Given the description of an element on the screen output the (x, y) to click on. 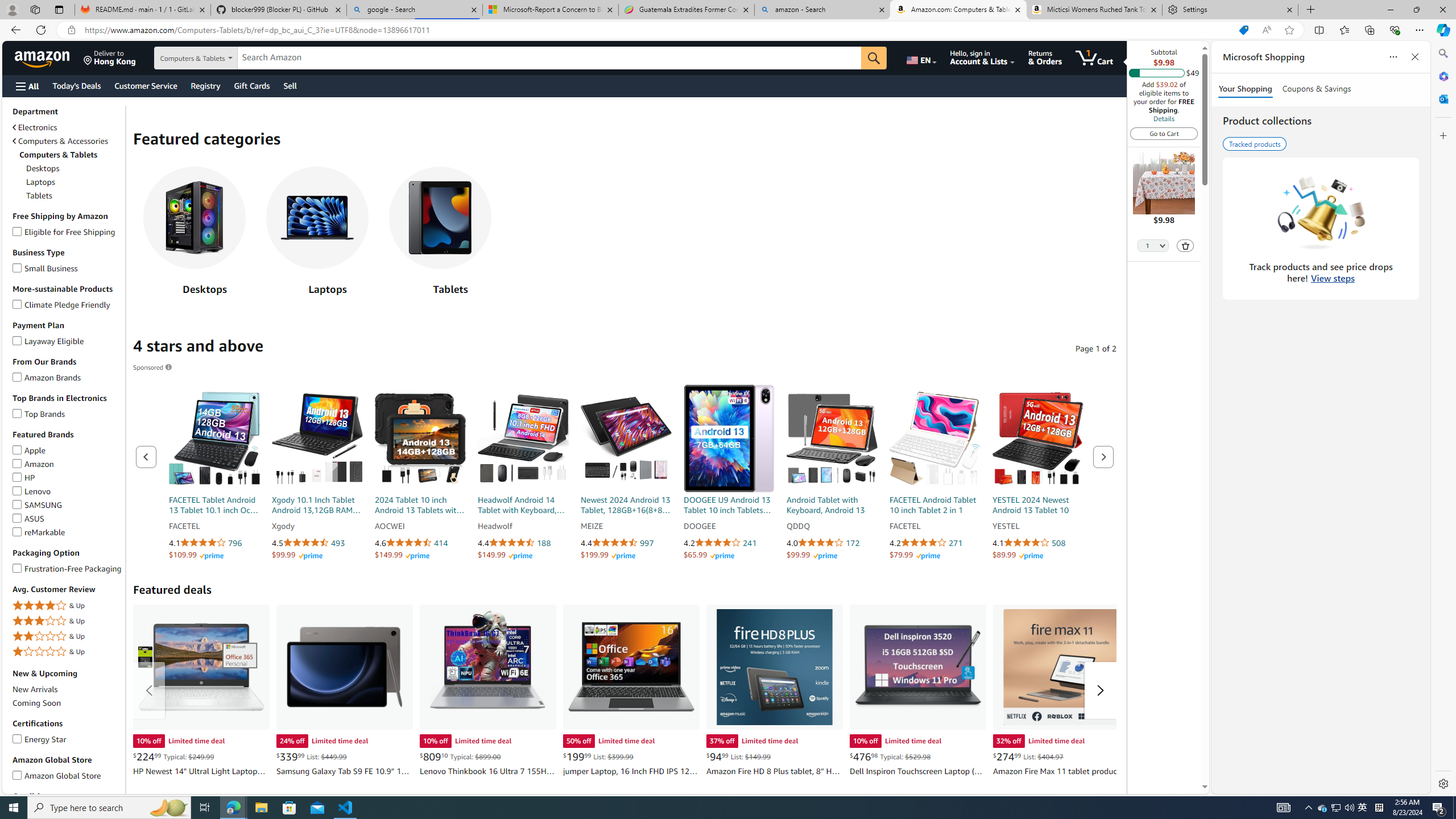
reMarkable reMarkable (39, 531)
1 Star & Up& Up (67, 651)
Amazon Brands Amazon Brands (47, 377)
$99.99 Amazon Prime (811, 554)
4.4 out of 5 stars 997 ratings (625, 543)
reMarkablereMarkable (67, 532)
Electronics (34, 127)
amazon - Search (822, 9)
4 Stars & Up& Up (67, 605)
$65.99 Amazon Prime (708, 554)
Energy Star Energy Star (39, 738)
